Given the description of an element on the screen output the (x, y) to click on. 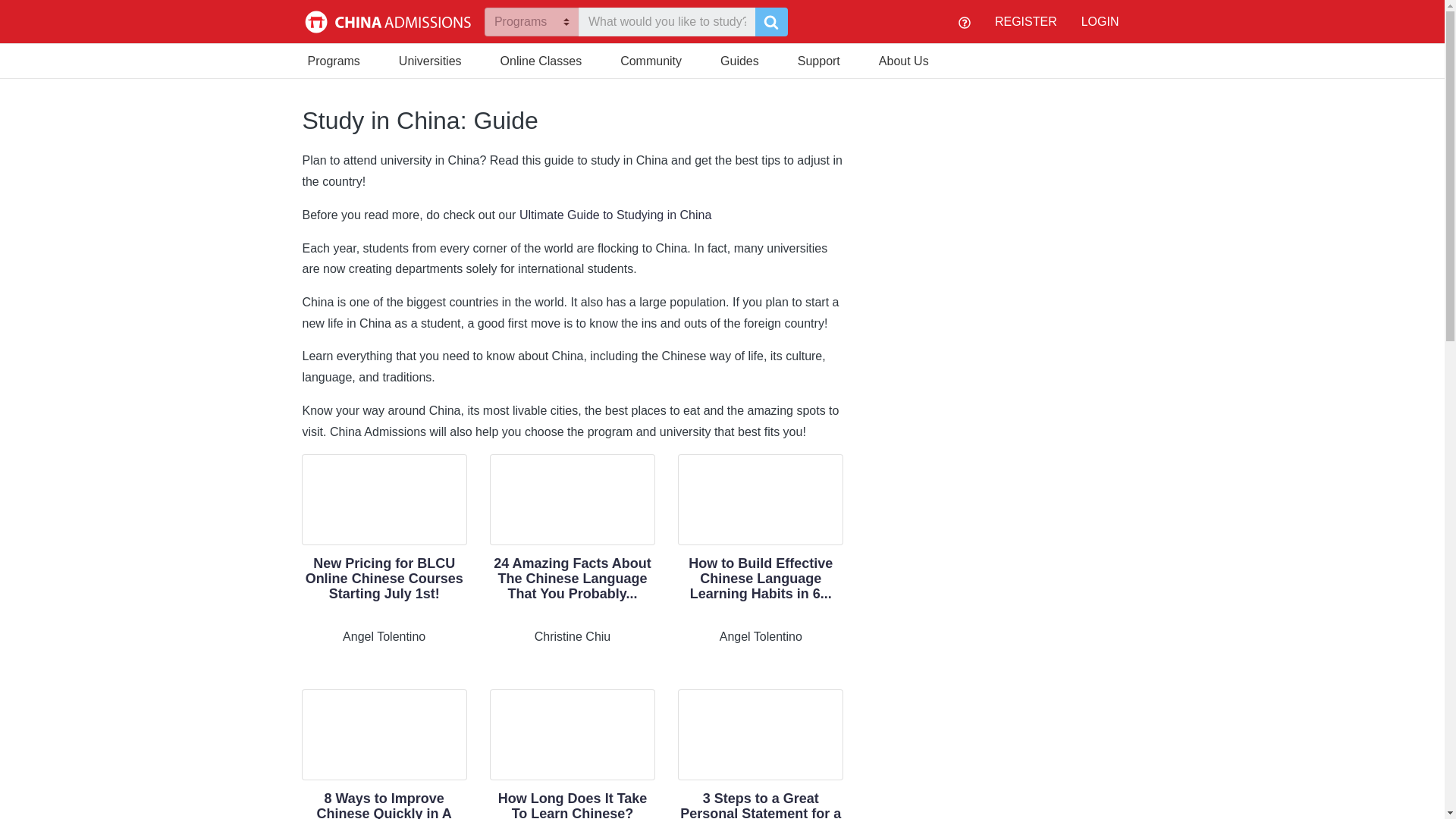
Programs (333, 59)
LOGIN (1100, 20)
REGISTER (1025, 20)
